Given the description of an element on the screen output the (x, y) to click on. 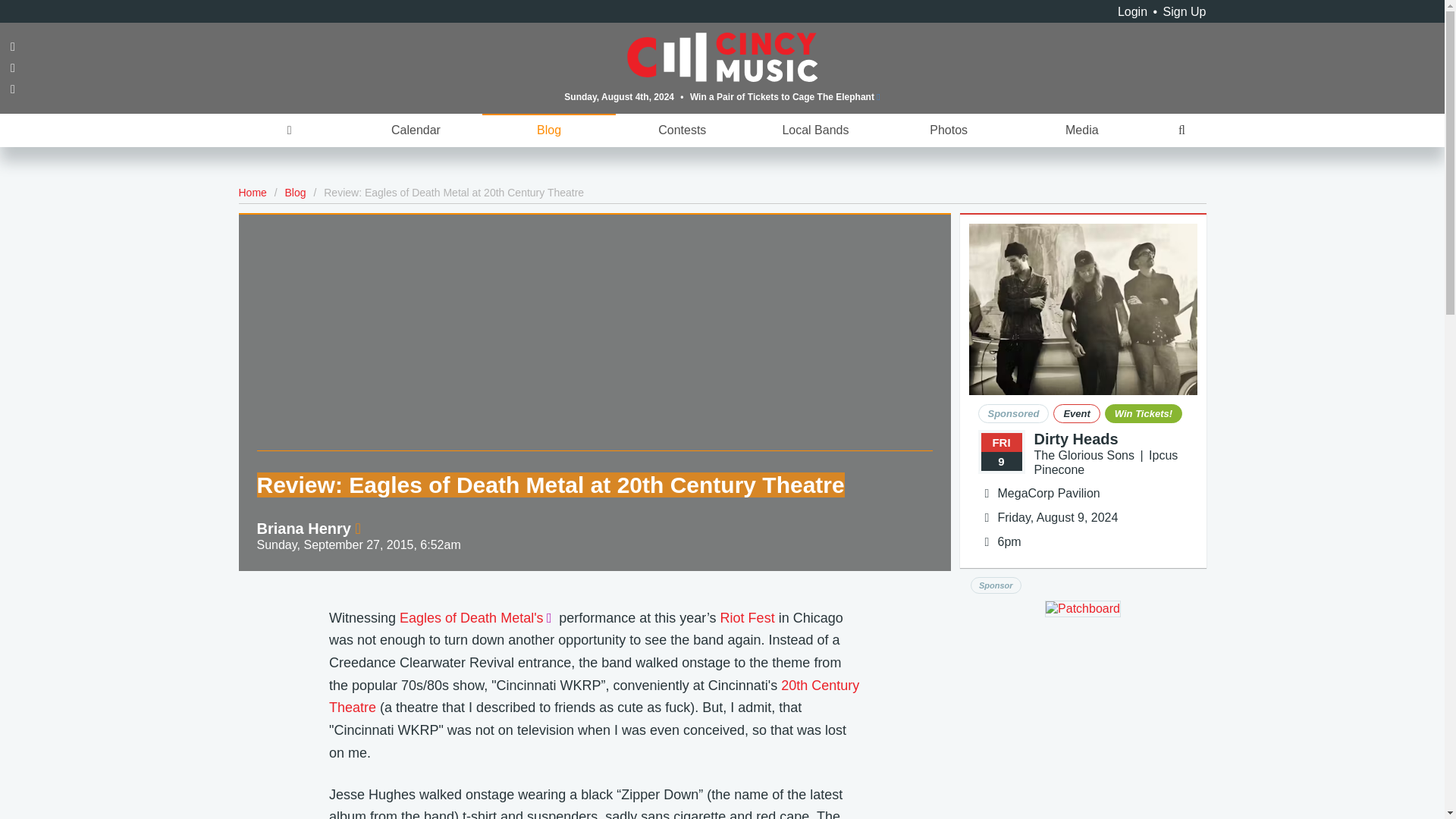
Blog (295, 192)
Briana Henry  (307, 528)
20th Century Theatre (594, 696)
Photos (948, 130)
CincyMusic (722, 56)
Local Bands (815, 130)
Riot Fest (747, 616)
Blog (548, 130)
Sign Up (1185, 11)
Home (252, 192)
Eagles of Death Metal's (476, 616)
Media (1081, 130)
Contests (682, 130)
Calendar (416, 130)
Win a Pair of Tickets to Cage The Elephant  (785, 95)
